Given the description of an element on the screen output the (x, y) to click on. 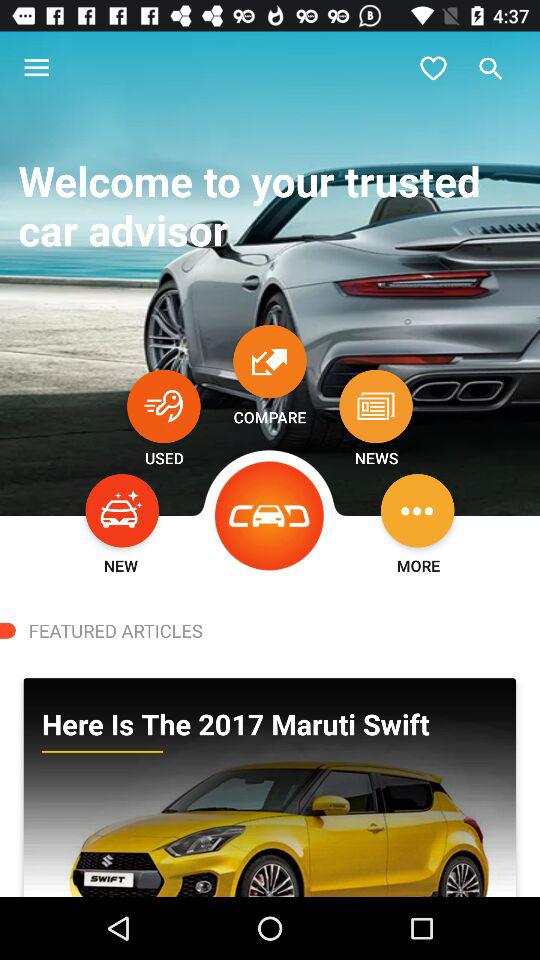
press the icon above featured articles icon (269, 515)
